Given the description of an element on the screen output the (x, y) to click on. 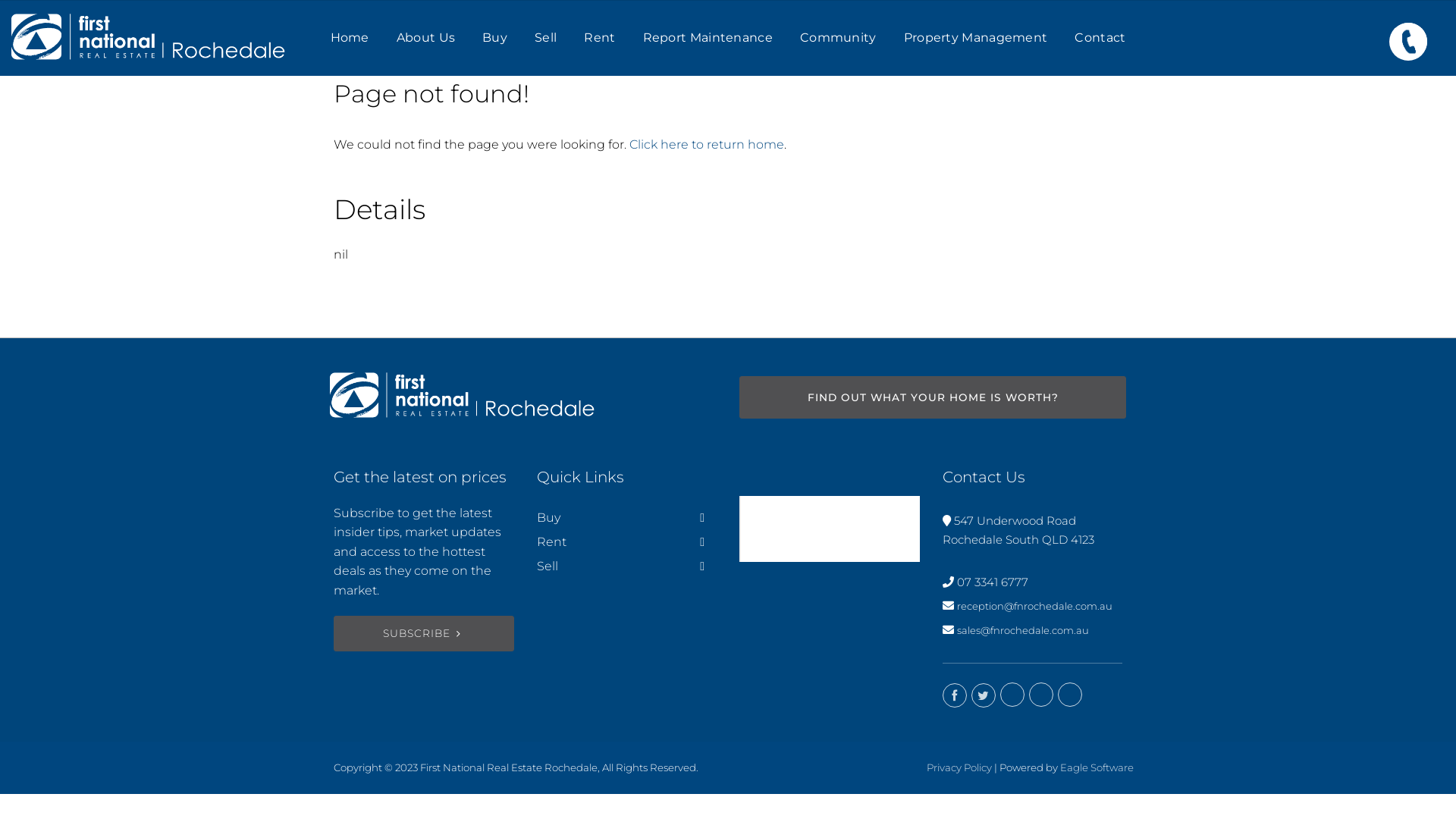
Buy Element type: text (494, 37)
FIND OUT WHAT YOUR HOME IS WORTH? Element type: text (932, 397)
Report Maintenance Element type: text (707, 37)
Rent Element type: text (599, 37)
Contact Element type: text (1099, 37)
Property Management Element type: text (975, 37)
Sell Element type: text (545, 37)
reception@fnrochedale.com.au Element type: text (1034, 605)
07 3341 6777 Element type: text (992, 581)
SUBSCRIBE Element type: text (423, 633)
Privacy Policy Element type: text (958, 767)
Home Element type: text (349, 37)
Community Element type: text (838, 37)
sales@fnrochedale.com.au Element type: text (1022, 630)
About Us Element type: text (425, 37)
First National Real Estate Rochedale Element type: text (822, 528)
Click here to return home Element type: text (706, 144)
Eagle Software Element type: text (1096, 767)
